Given the description of an element on the screen output the (x, y) to click on. 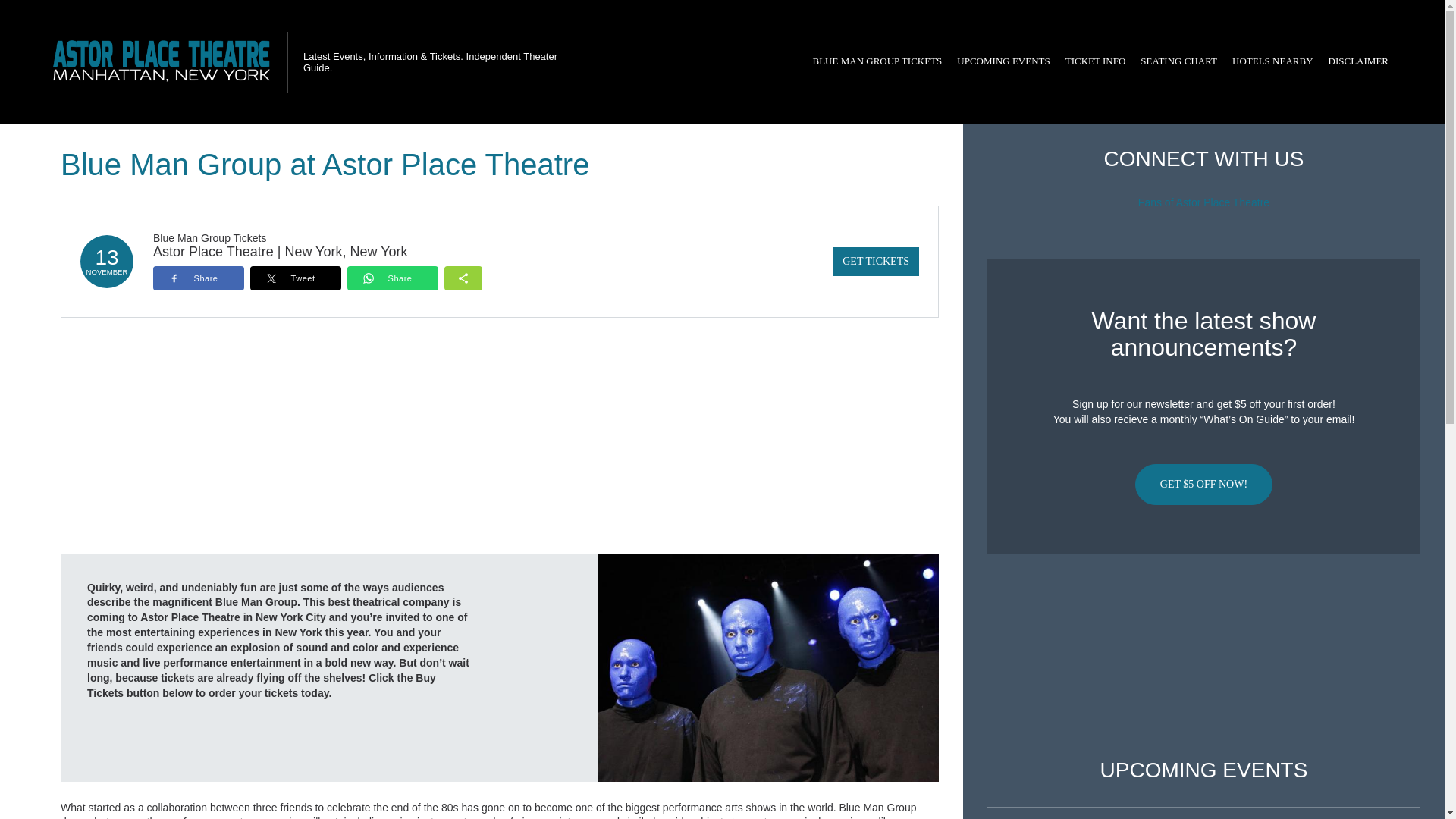
SEATING CHART (1178, 61)
BLUE MAN GROUP TICKETS (877, 61)
Advertisement (1204, 655)
HOTELS NEARBY (1272, 61)
GET TICKETS (875, 261)
Blue Man Group at Astor Place Theatre (768, 667)
Fans of Astor Place Theatre (1203, 202)
DISCLAIMER (1358, 61)
UPCOMING EVENTS (1003, 61)
TICKET INFO (1096, 61)
Blue Man Group Tickets (209, 237)
